Given the description of an element on the screen output the (x, y) to click on. 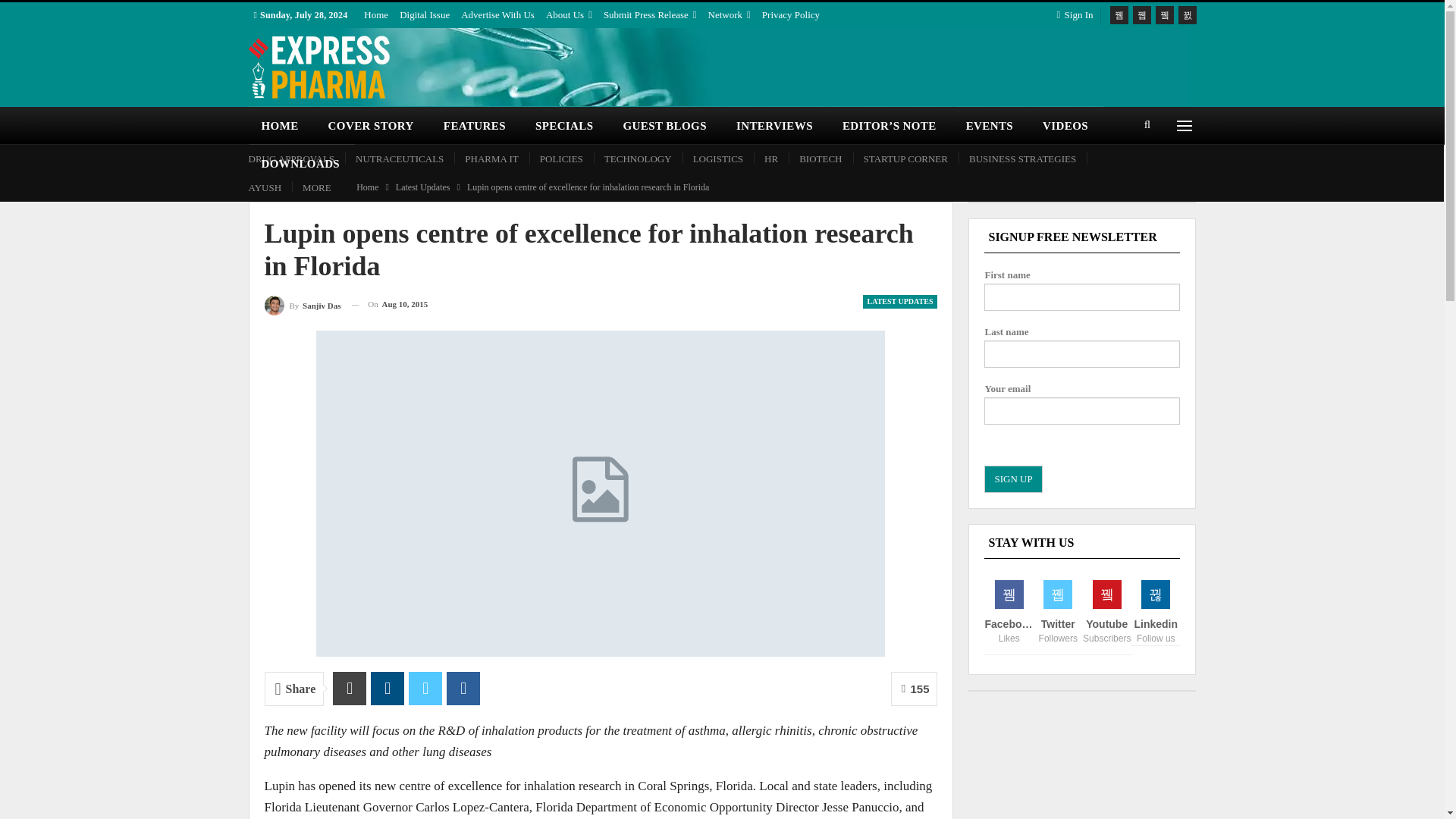
Sign Up (1013, 479)
Browse Author Articles (301, 304)
